Given the description of an element on the screen output the (x, y) to click on. 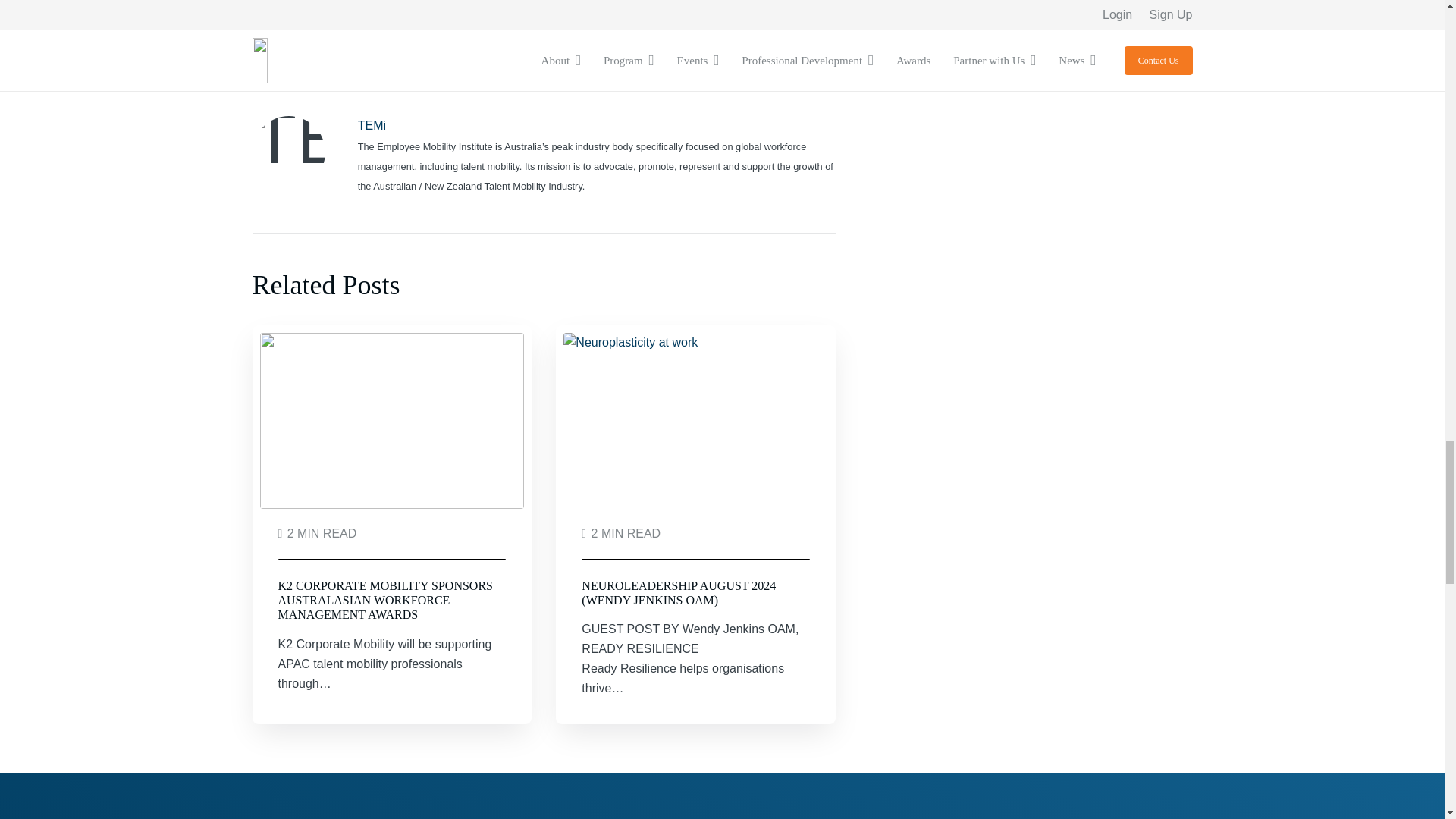
Email this (269, 29)
Share this (386, 29)
Tweet this (348, 29)
Share this (309, 29)
Pin this (425, 29)
